Given the description of an element on the screen output the (x, y) to click on. 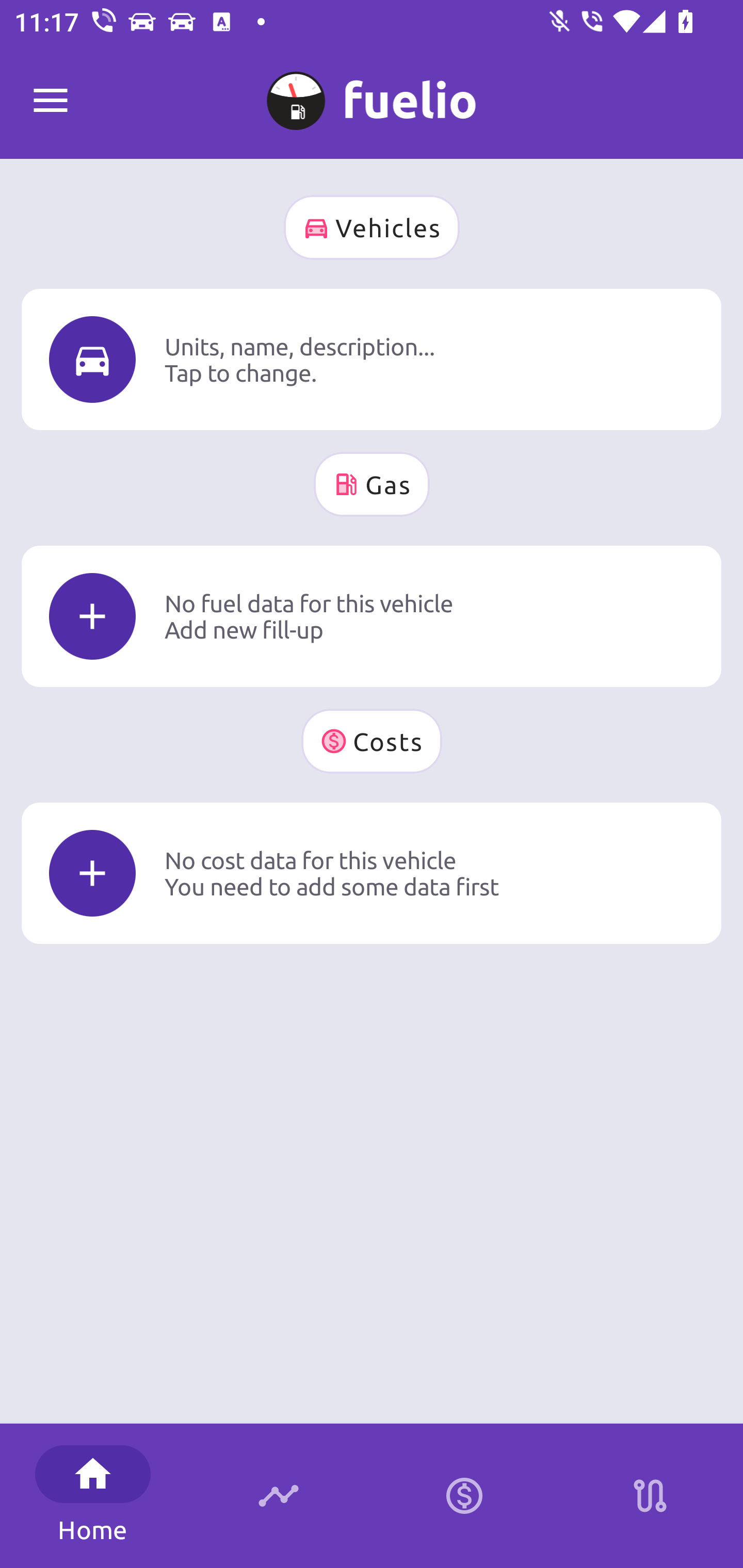
A No name 0 km (371, 92)
Fuelio (50, 101)
Vehicles (371, 227)
Icon Units, name, description...
Tap to change. (371, 358)
Icon (92, 359)
Gas (371, 484)
Icon No fuel data for this vehicle
Add new fill-up (371, 615)
Icon (92, 616)
Costs (371, 740)
Icon (92, 873)
Timeline (278, 1495)
Calculator (464, 1495)
Stations on route (650, 1495)
